Given the description of an element on the screen output the (x, y) to click on. 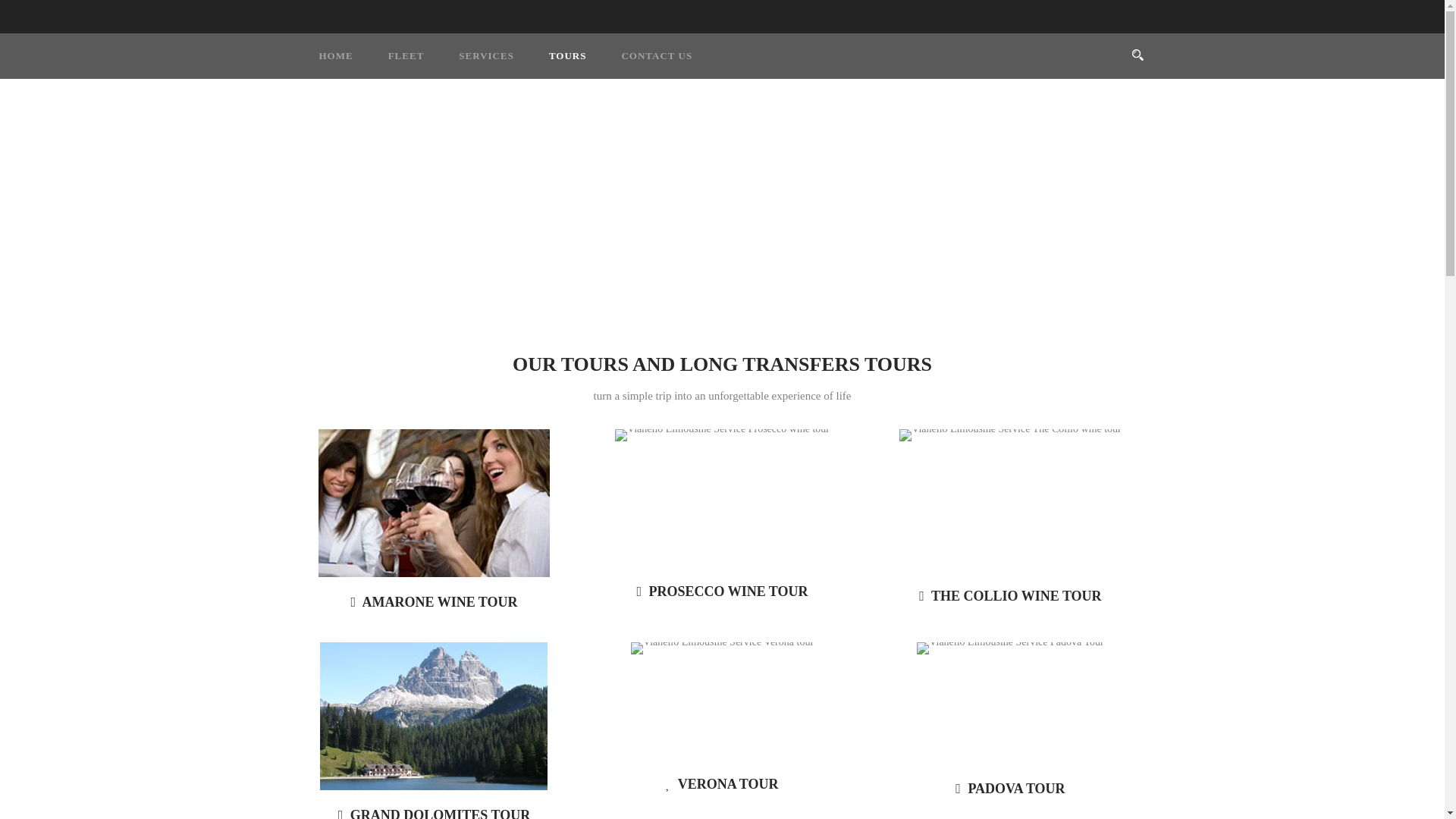
HOME (327, 62)
CONTACT US (639, 62)
FLEET (389, 62)
TOURS (549, 62)
SERVICES (468, 62)
